Given the description of an element on the screen output the (x, y) to click on. 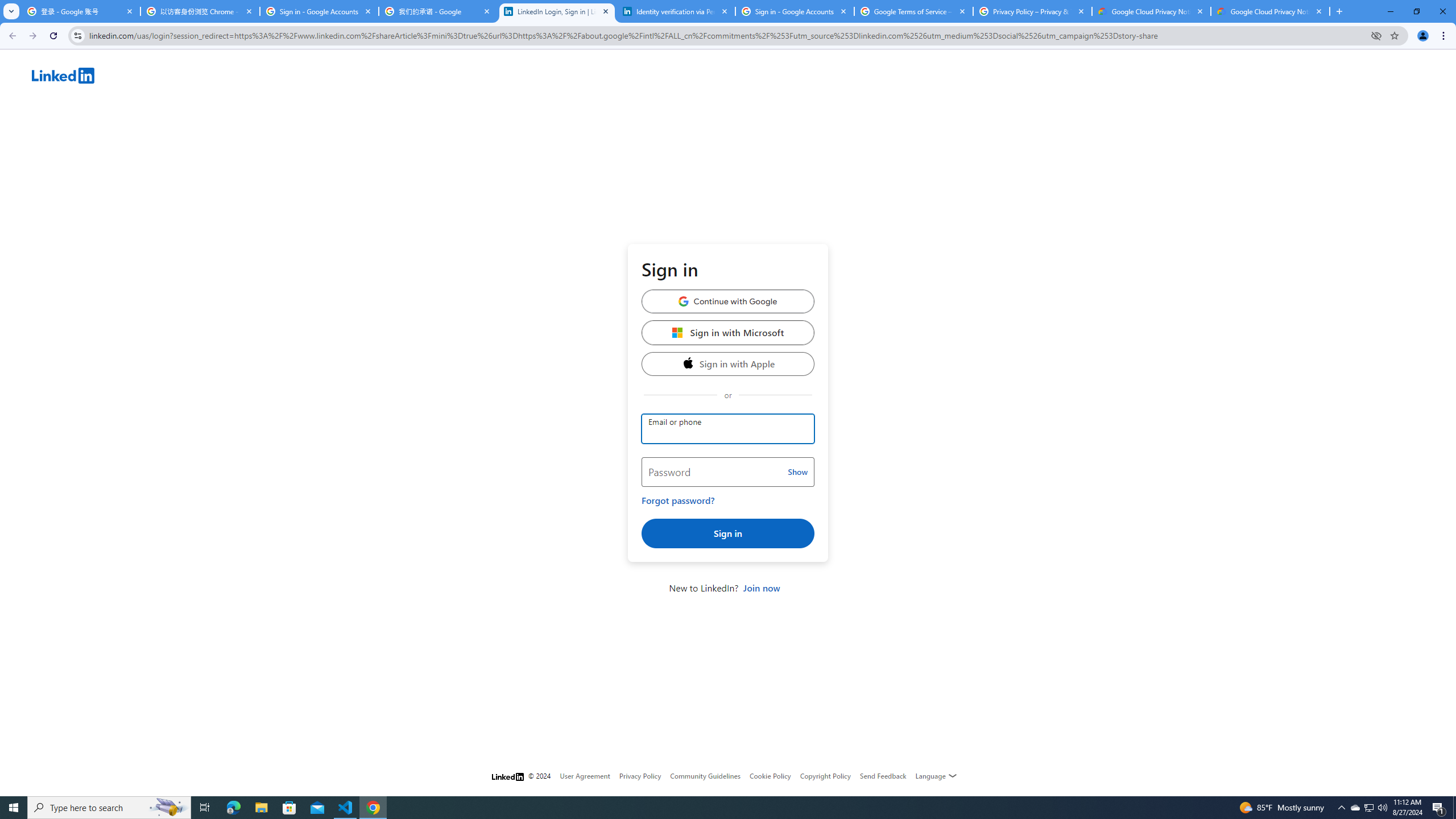
Google Cloud Privacy Notice (1150, 11)
